Given the description of an element on the screen output the (x, y) to click on. 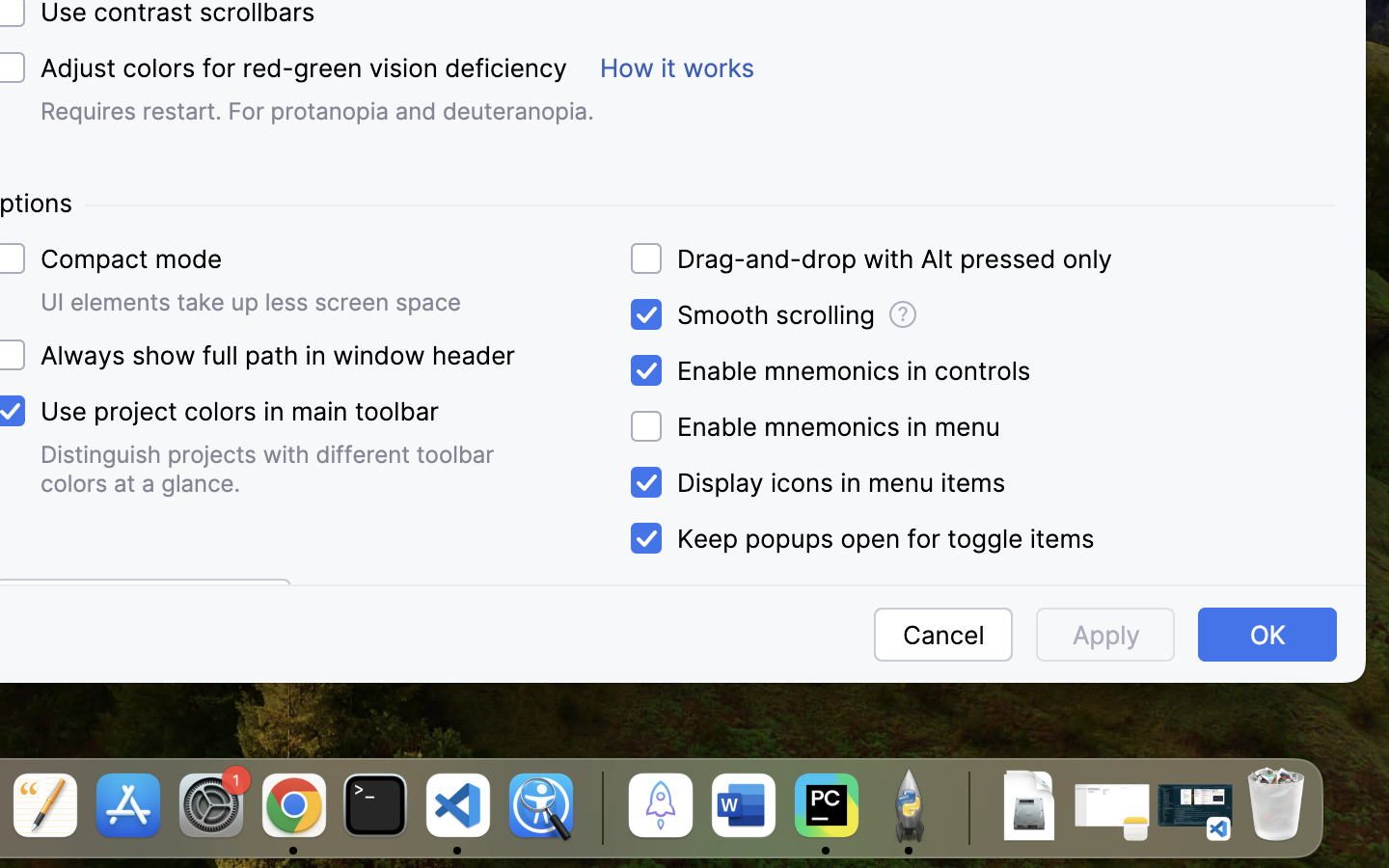
0.4285714328289032 Element type: AXDockItem (598, 807)
1 Element type: AXCheckBox (858, 539)
Requires restart. For protanopia and deuteranopia. Element type: AXTextField (317, 110)
Distinguish projects with different toolbar colors at a glance. Element type: AXTextField (271, 468)
